Given the description of an element on the screen output the (x, y) to click on. 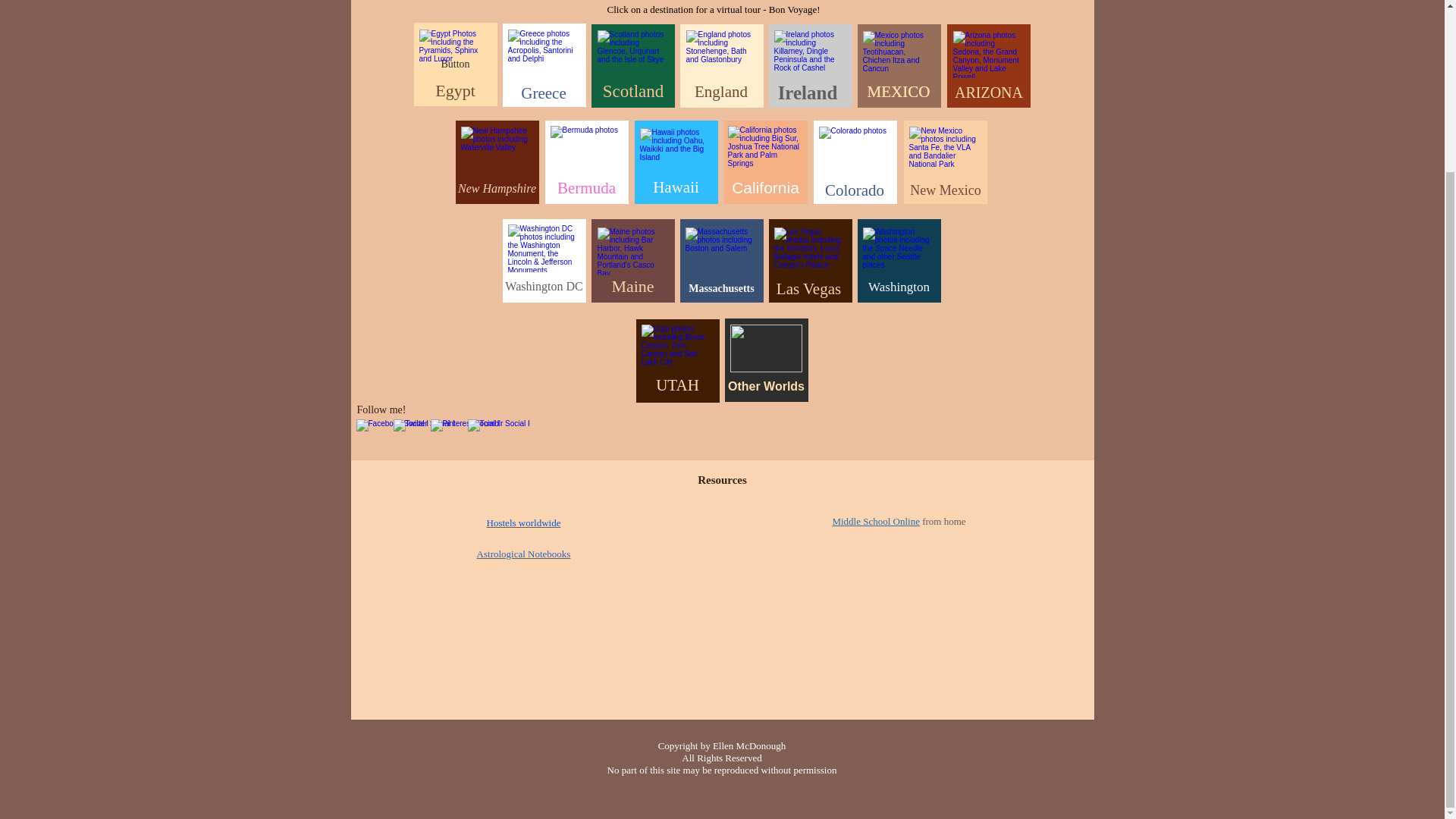
Greece photos including the Acropolis, Santorini and Delphi (543, 52)
Button (455, 64)
Hawaii photos including Oahu, Waikiki and the Big Island (675, 151)
Mexico photos including Teotihuacan, Chichen Itza and Cancun (898, 54)
England photos including Stonehenge, Bath and Glastonbury (721, 53)
Egypt Photos including the Pyramids, Sphinx and Luxor (454, 52)
Bermuda photos  (586, 149)
New Hampshire photos including Waterville Valley (496, 150)
Colorado photos (854, 150)
